Given the description of an element on the screen output the (x, y) to click on. 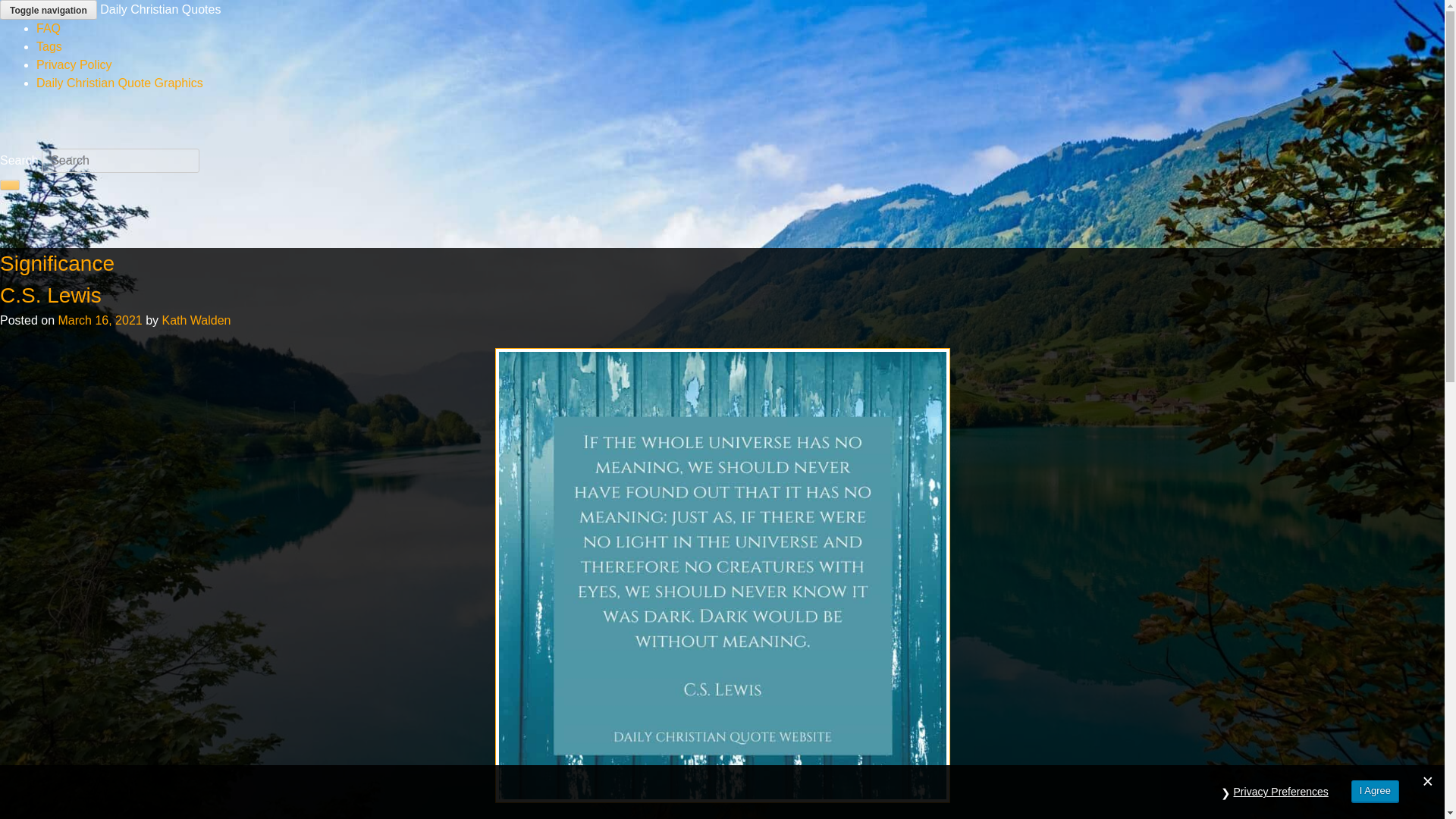
March 16, 2021 (99, 319)
Toggle navigation (48, 9)
C.S. Lewis (50, 295)
Tags (49, 46)
FAQ (48, 28)
Kath Walden (195, 319)
Daily Christian Quotes (160, 9)
Privacy Policy (74, 64)
Daily Christian Quote Graphics (119, 82)
